Given the description of an element on the screen output the (x, y) to click on. 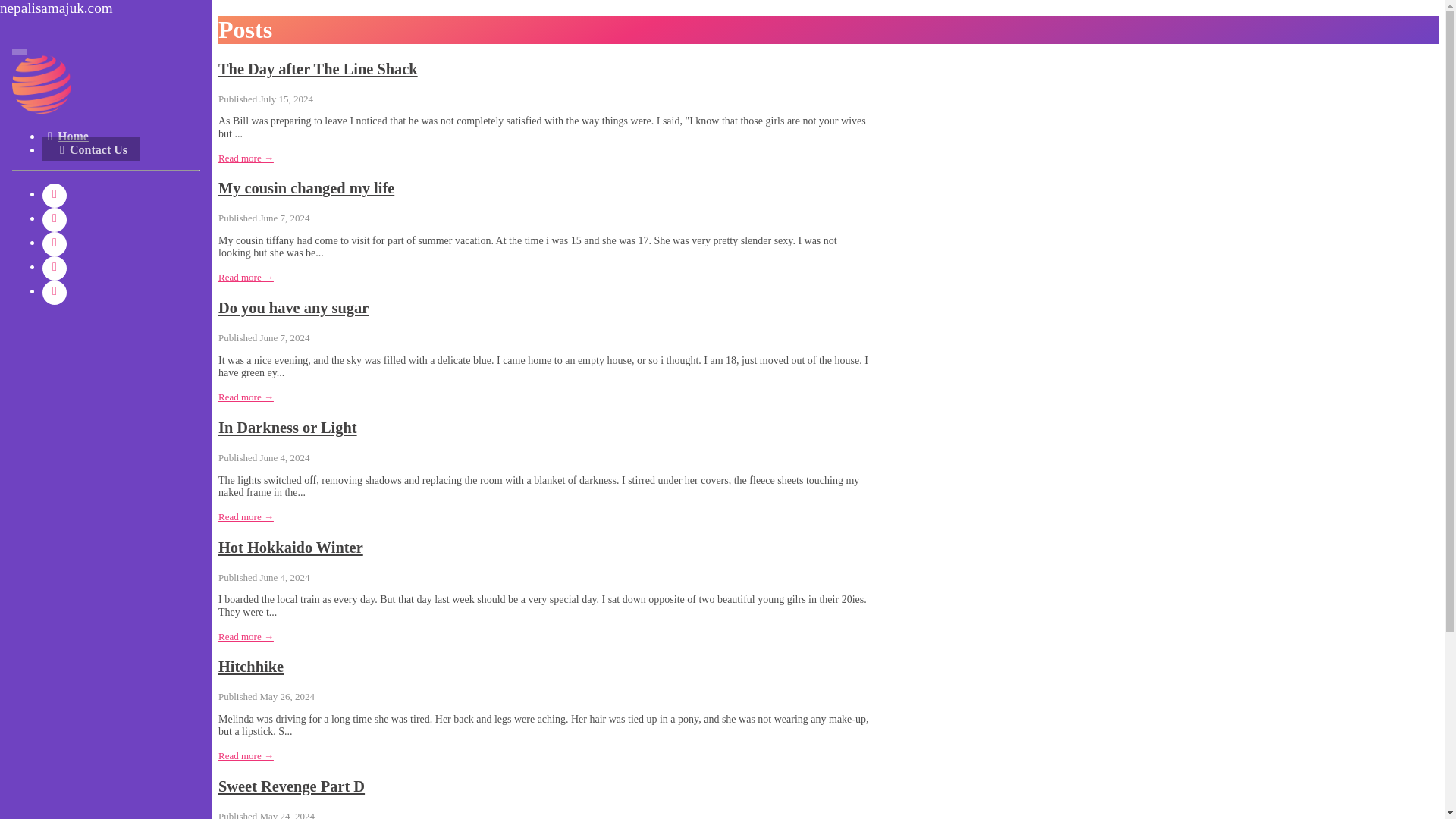
Contact Us (90, 148)
The Day after The Line Shack (317, 68)
nepalisamajuk.com (106, 8)
Do you have any sugar (293, 307)
My cousin changed my life (306, 187)
Sweet Revenge Part D (291, 786)
In Darkness or Light (287, 427)
Hitchhike (250, 666)
Hot Hokkaido Winter (290, 547)
